Given the description of an element on the screen output the (x, y) to click on. 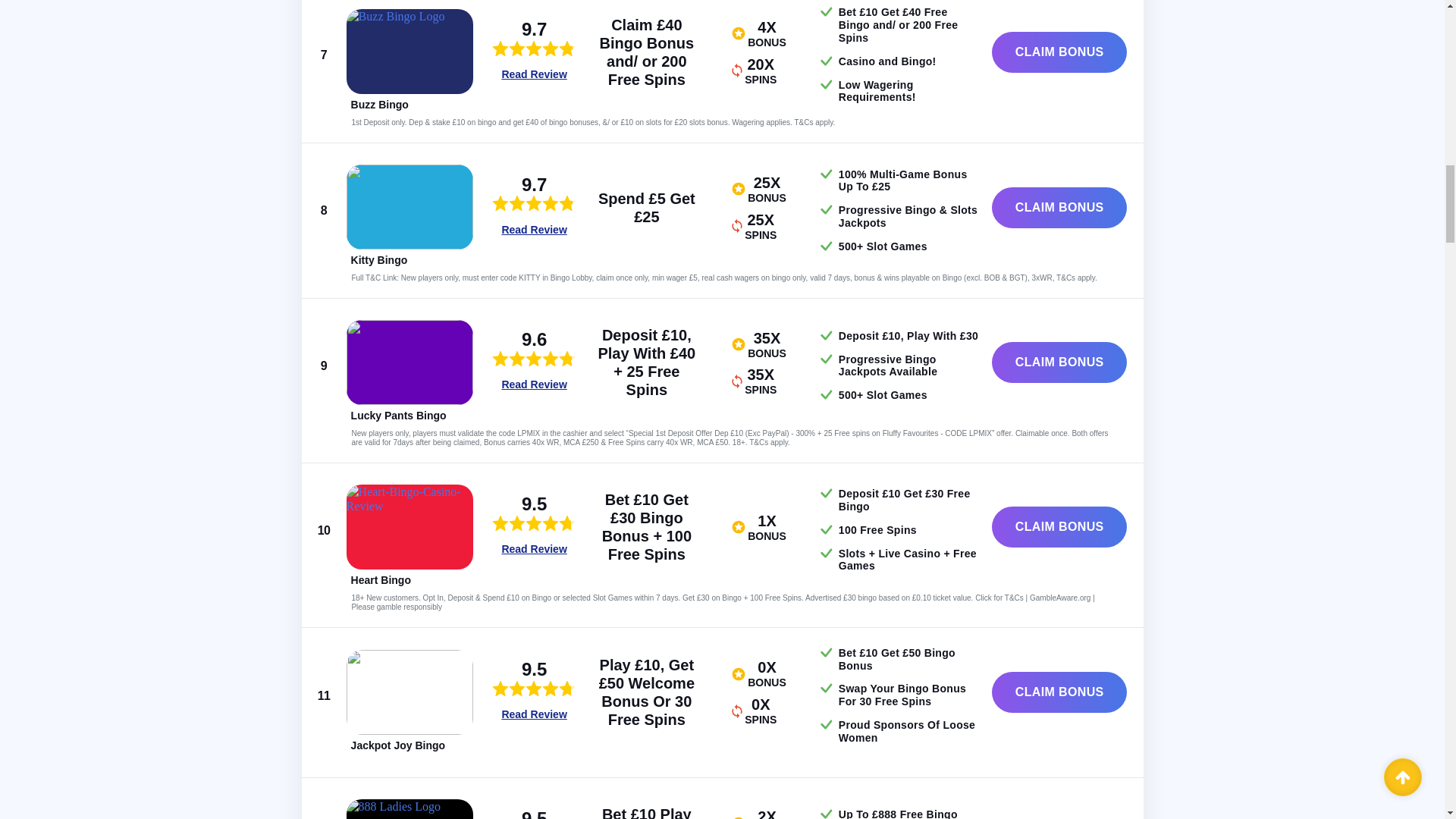
Buzz Bingo (409, 51)
Buzz Bingo (379, 104)
